Given the description of an element on the screen output the (x, y) to click on. 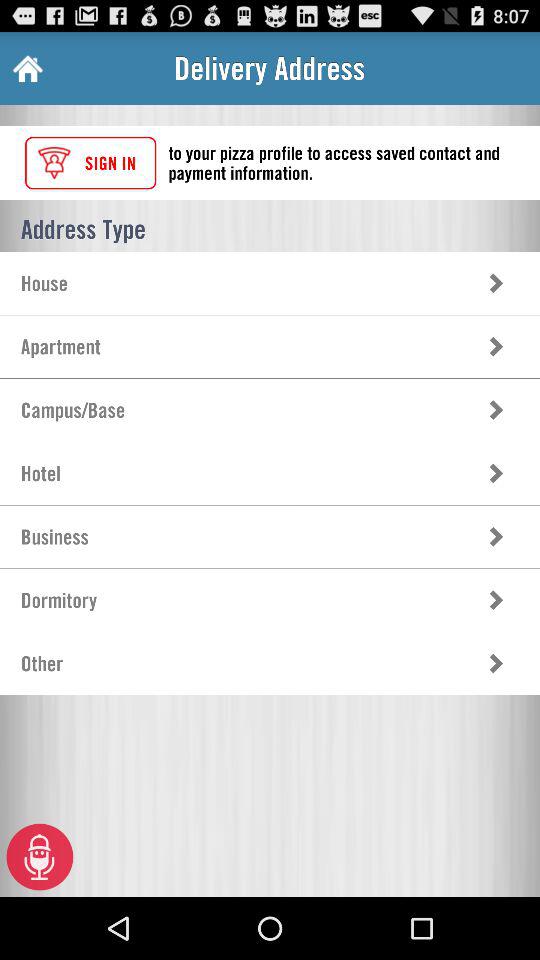
launch app to the left of delivery address icon (26, 68)
